Given the description of an element on the screen output the (x, y) to click on. 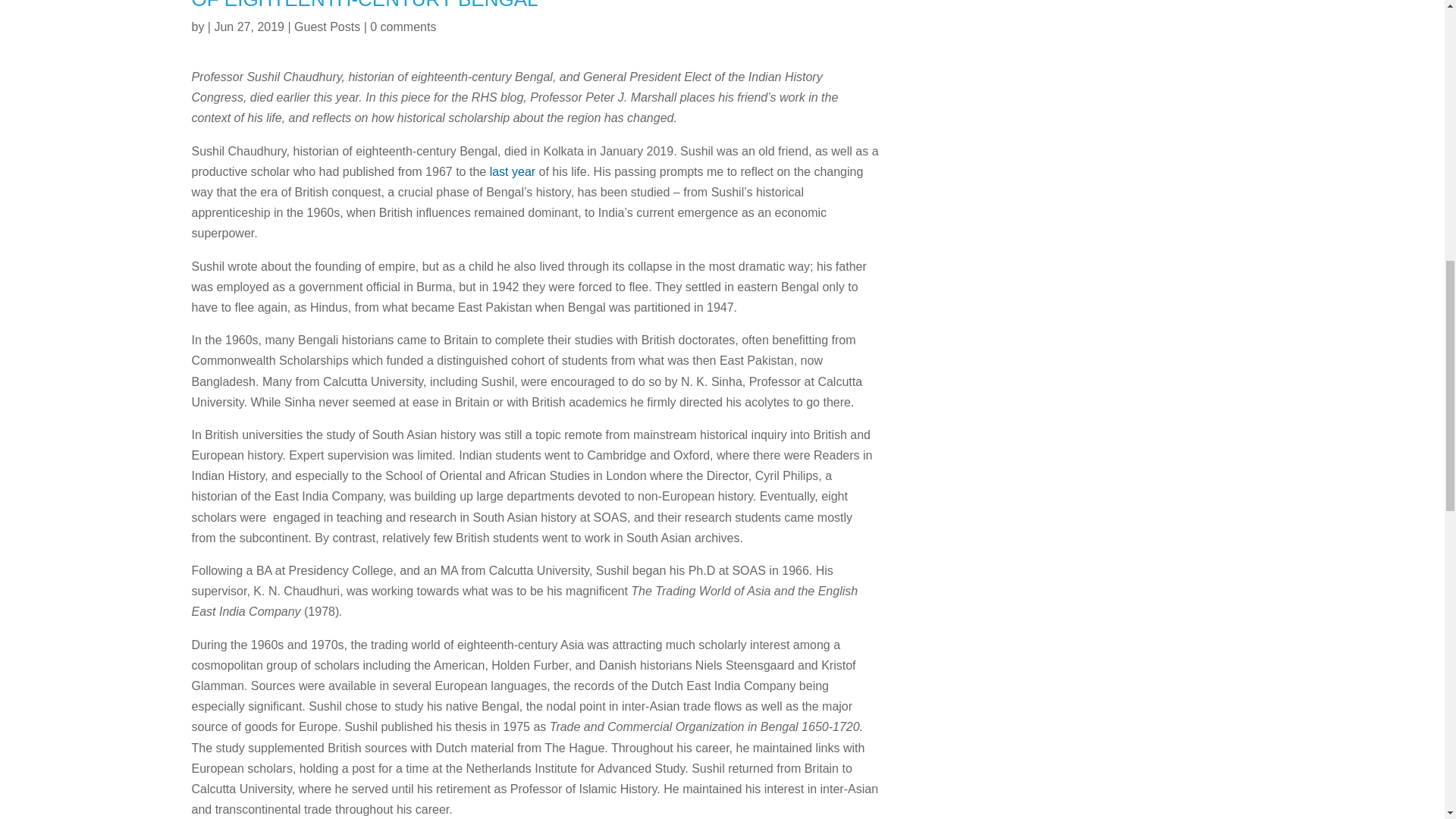
last ye (506, 171)
Guest Posts (326, 26)
0 comments (402, 26)
